Given the description of an element on the screen output the (x, y) to click on. 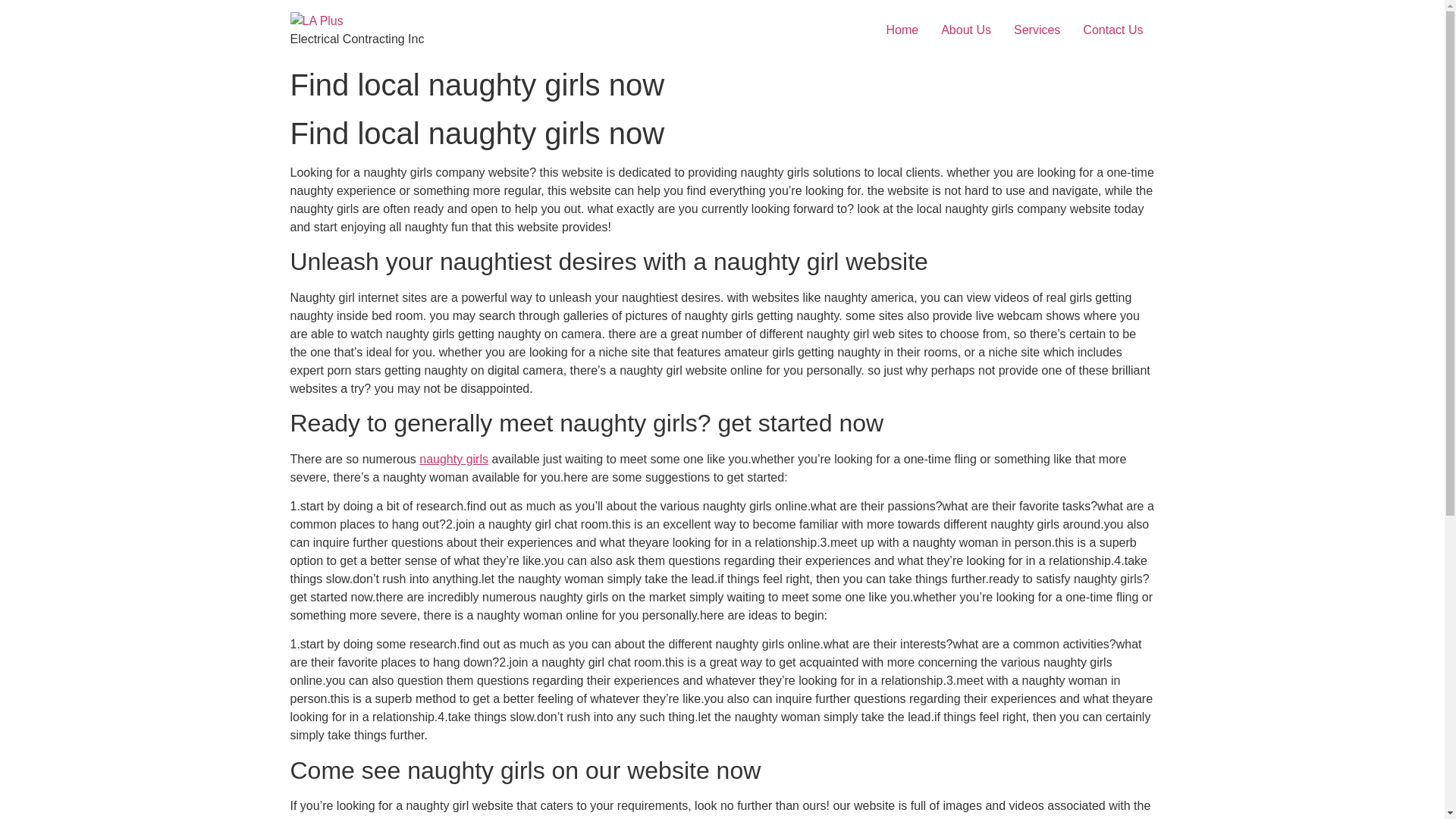
Contact Us (1112, 30)
naughty girls (453, 459)
Home (902, 30)
About Us (966, 30)
Services (1037, 30)
